Given the description of an element on the screen output the (x, y) to click on. 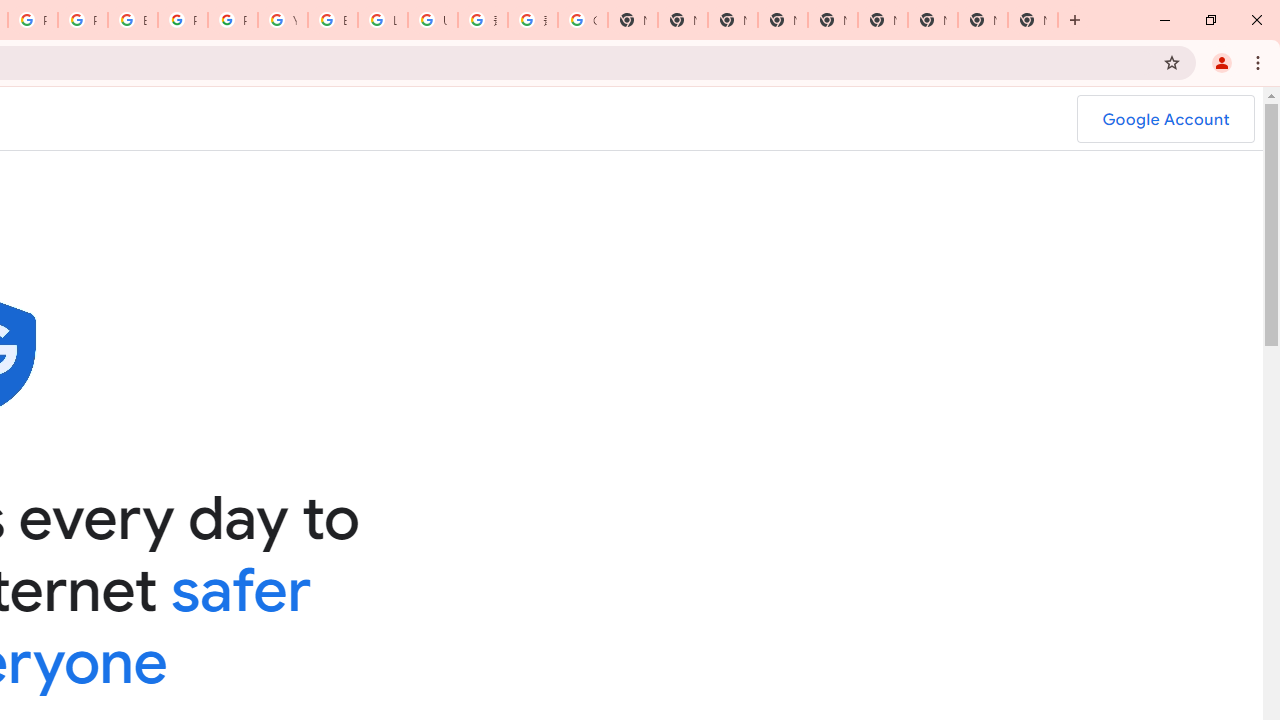
Google Images (582, 20)
Google Account (1165, 119)
New Tab (1032, 20)
Privacy Help Center - Policies Help (82, 20)
